Given the description of an element on the screen output the (x, y) to click on. 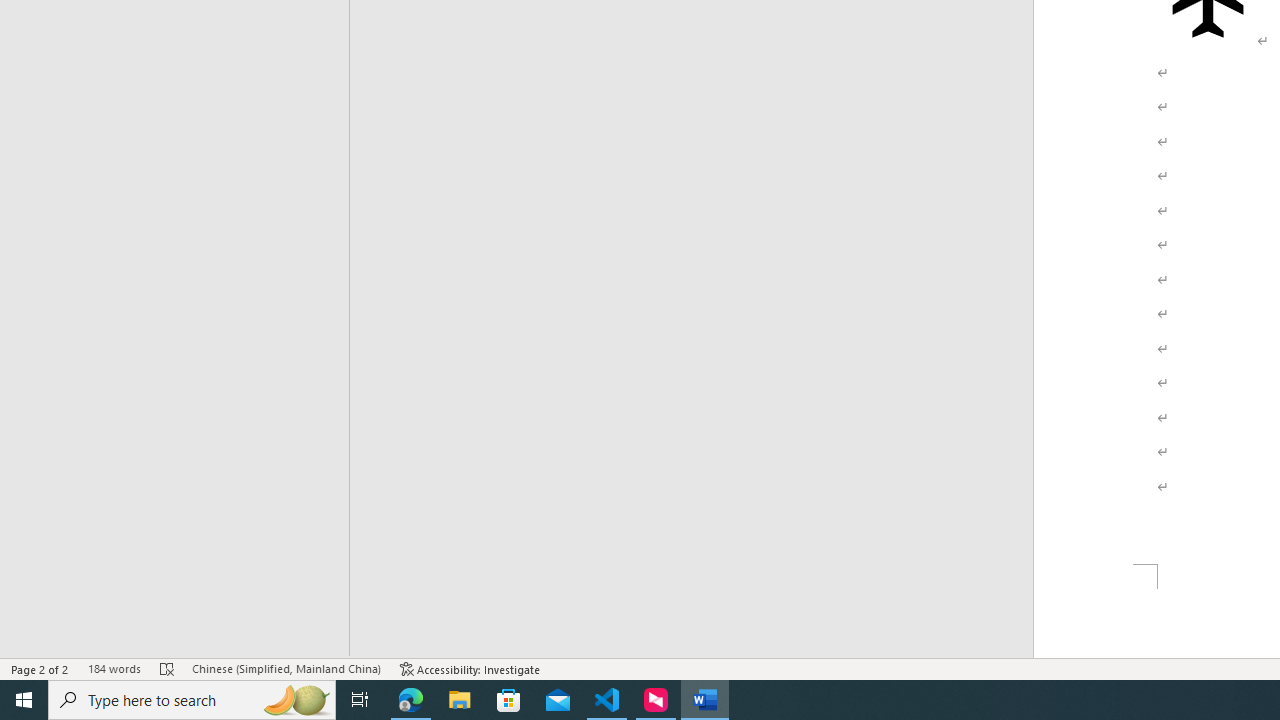
Page Number Page 2 of 2 (39, 668)
Word Count 184 words (113, 668)
